Given the description of an element on the screen output the (x, y) to click on. 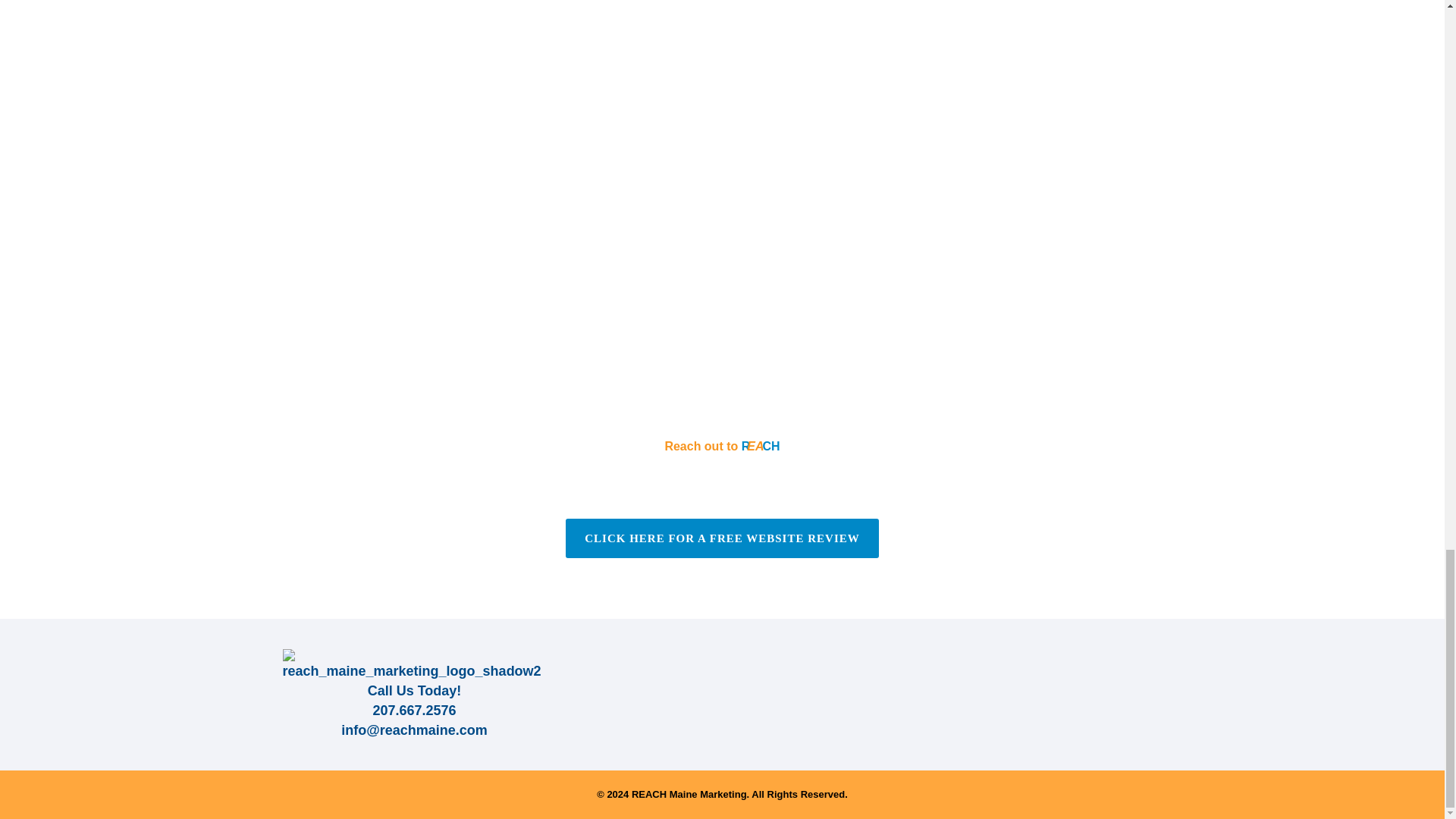
CLICK HERE FOR A FREE WEBSITE REVIEW (721, 537)
207.667.2576 (413, 710)
